Given the description of an element on the screen output the (x, y) to click on. 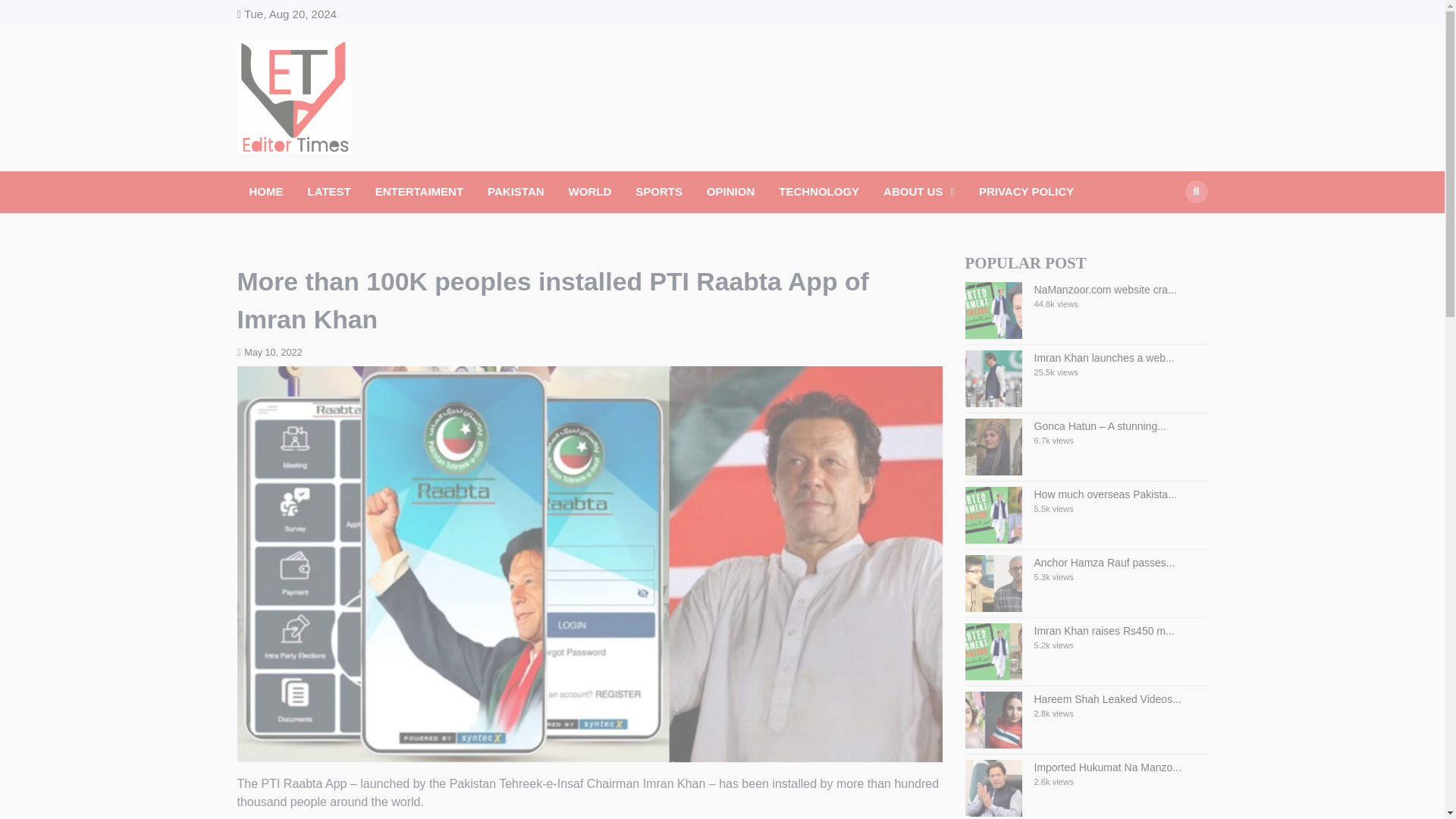
WORLD (589, 191)
Terms of Use (1177, 14)
How much overseas Pakistanis can donate in Namanzoor.com? (1104, 494)
ENTERTAIMENT (418, 191)
Contact Us (1199, 14)
PAKISTAN (515, 191)
PRIVACY POLICY (1026, 191)
TECHNOLOGY (818, 191)
SPORTS (658, 191)
